Given the description of an element on the screen output the (x, y) to click on. 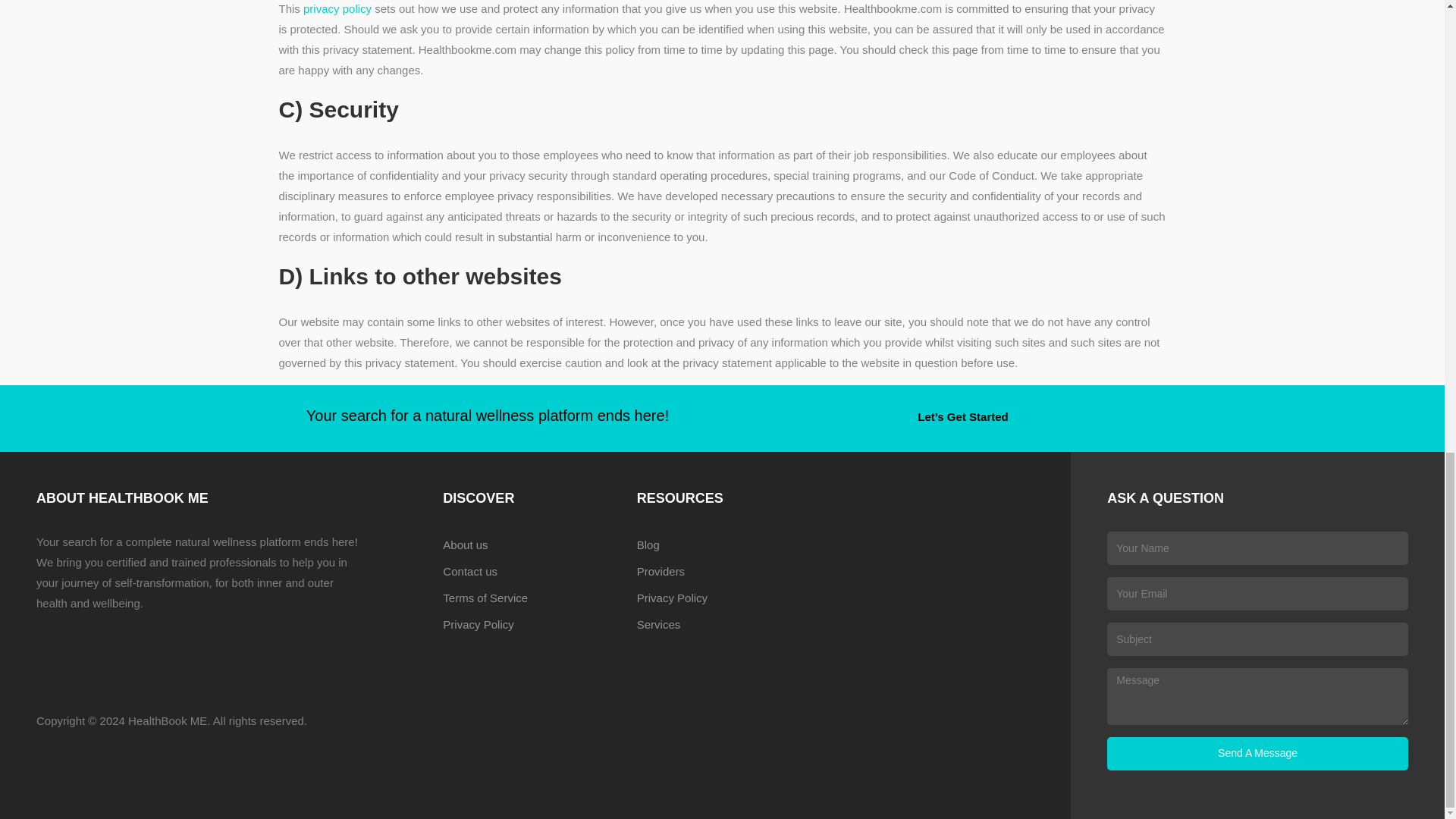
Send A Message (1256, 753)
About us (527, 544)
Privacy Policy (527, 624)
Contact us (527, 570)
Blog (722, 544)
Services (722, 624)
Providers (722, 570)
privacy policy (336, 8)
Privacy Policy (722, 597)
Terms of Service (527, 597)
